Given the description of an element on the screen output the (x, y) to click on. 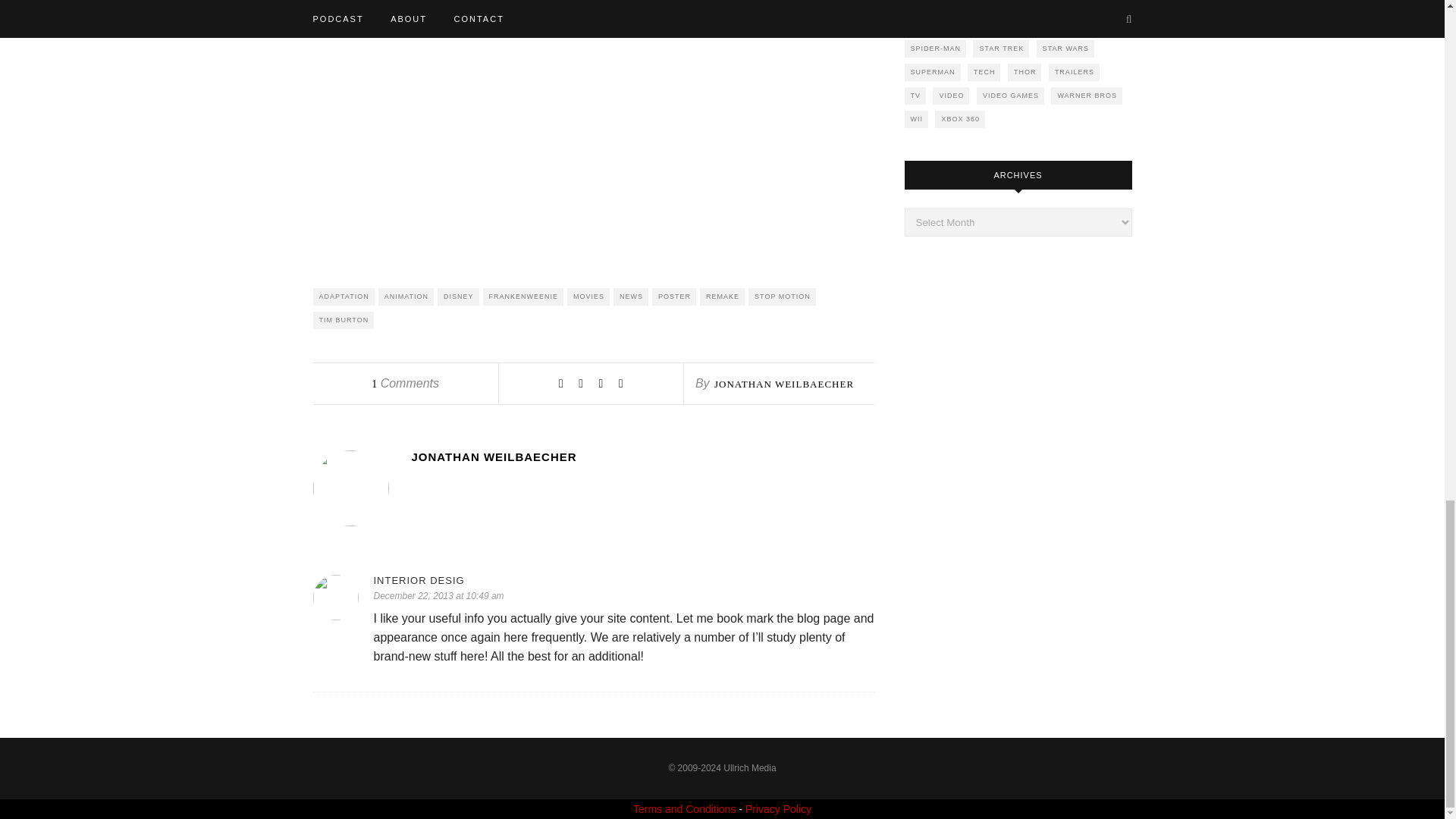
NEWS (629, 296)
REMAKE (722, 296)
ADAPTATION (343, 296)
MOVIES (588, 296)
DISNEY (458, 296)
JONATHAN WEILBAECHER (641, 456)
TIM BURTON (343, 320)
1 Comments (405, 382)
FrankenweeniePoster (592, 134)
FRANKENWEENIE (523, 296)
